Given the description of an element on the screen output the (x, y) to click on. 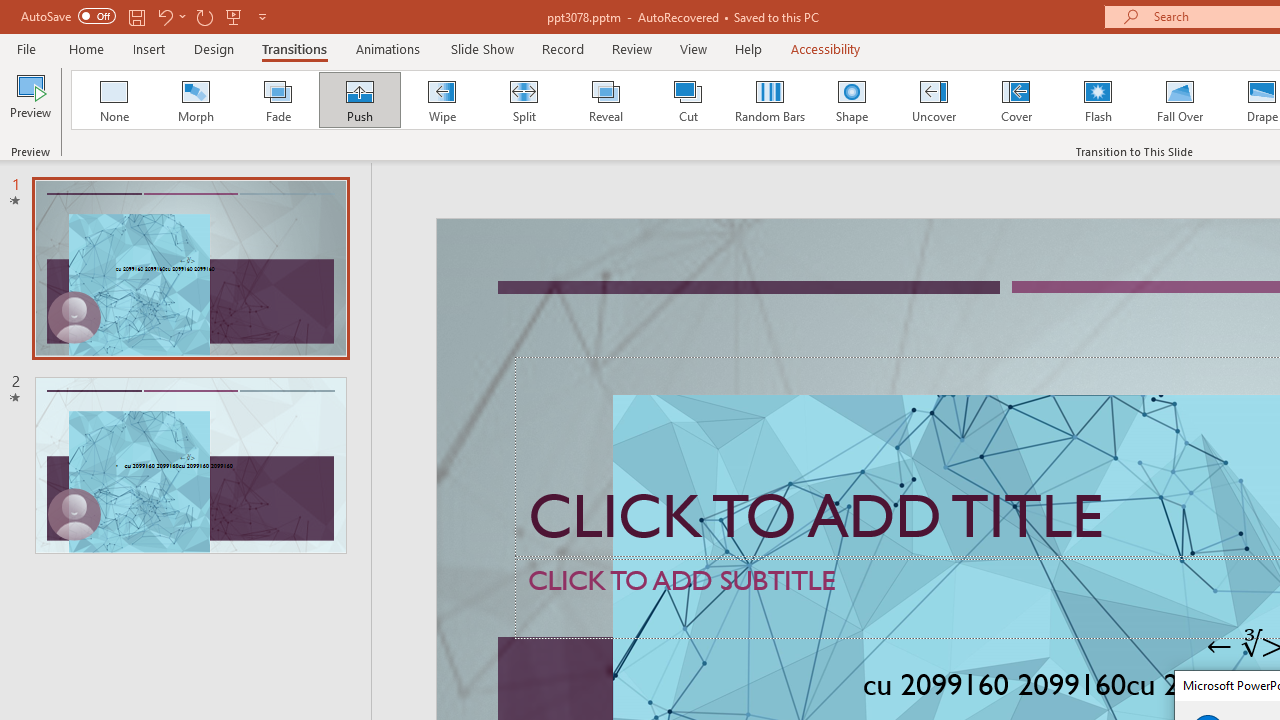
Split (523, 100)
Random Bars (770, 100)
Push (359, 100)
Fall Over (1180, 100)
